Given the description of an element on the screen output the (x, y) to click on. 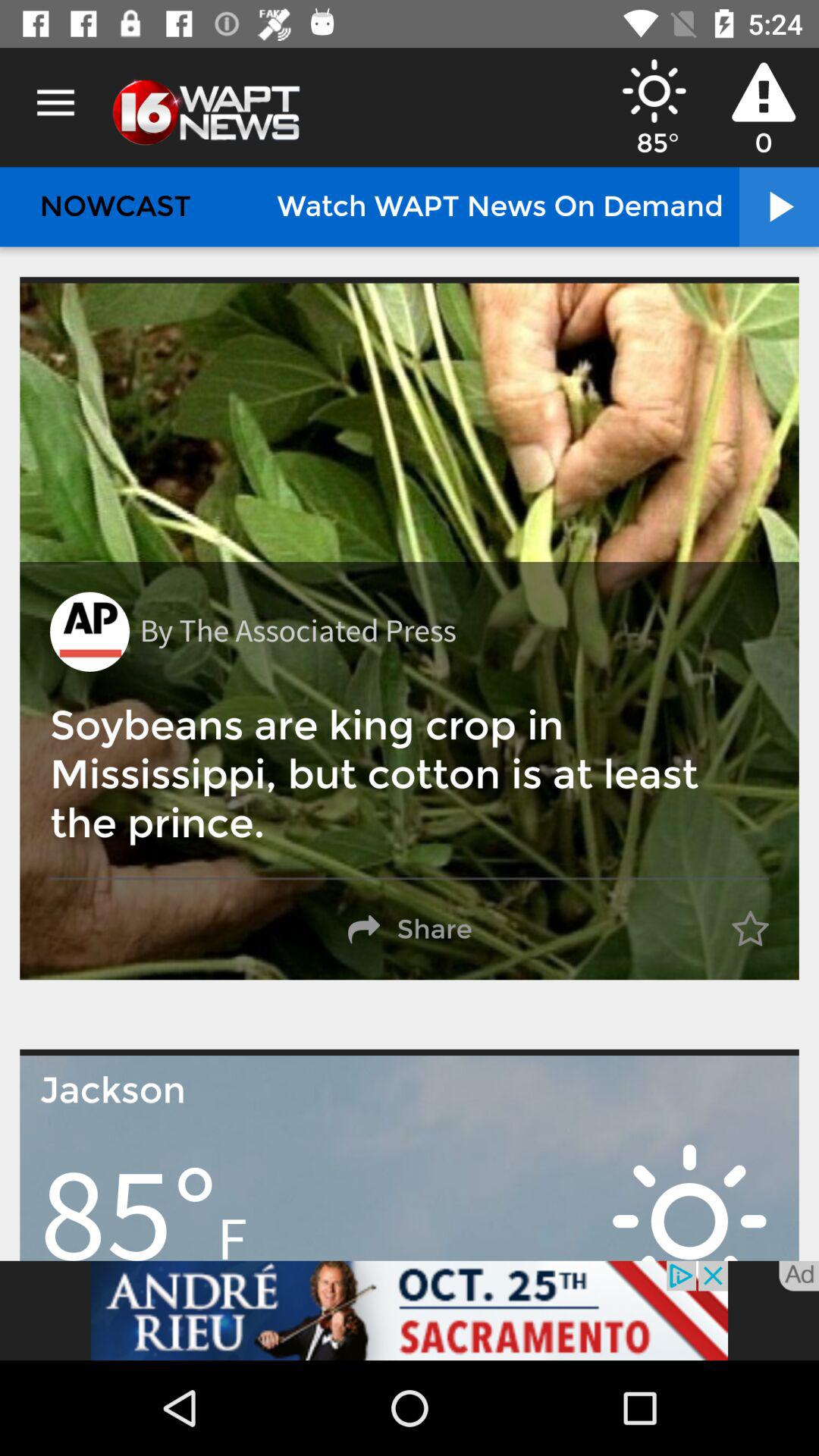
select the option which is after menu button (206, 107)
